Given the description of an element on the screen output the (x, y) to click on. 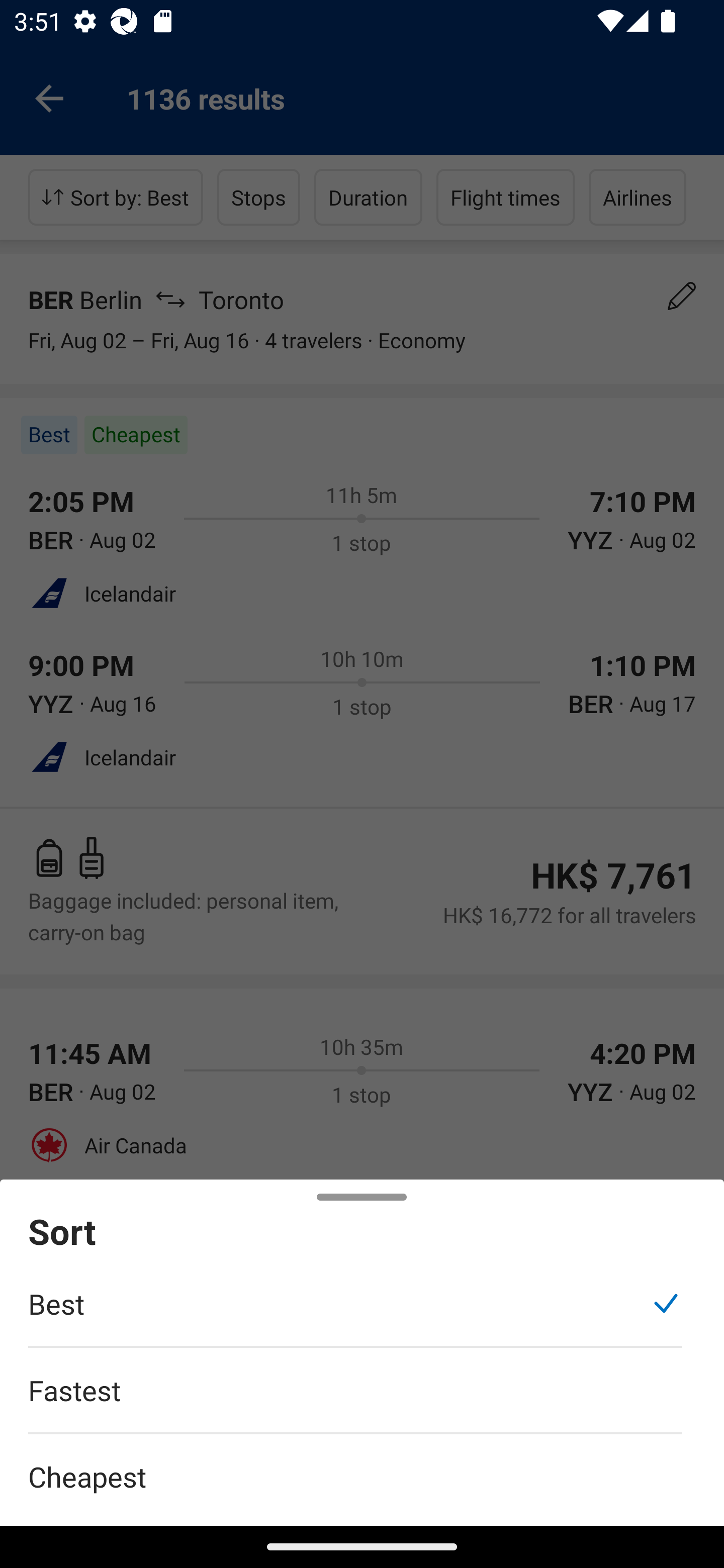
Best (355, 1313)
Fastest (355, 1399)
Cheapest (362, 1465)
